Given the description of an element on the screen output the (x, y) to click on. 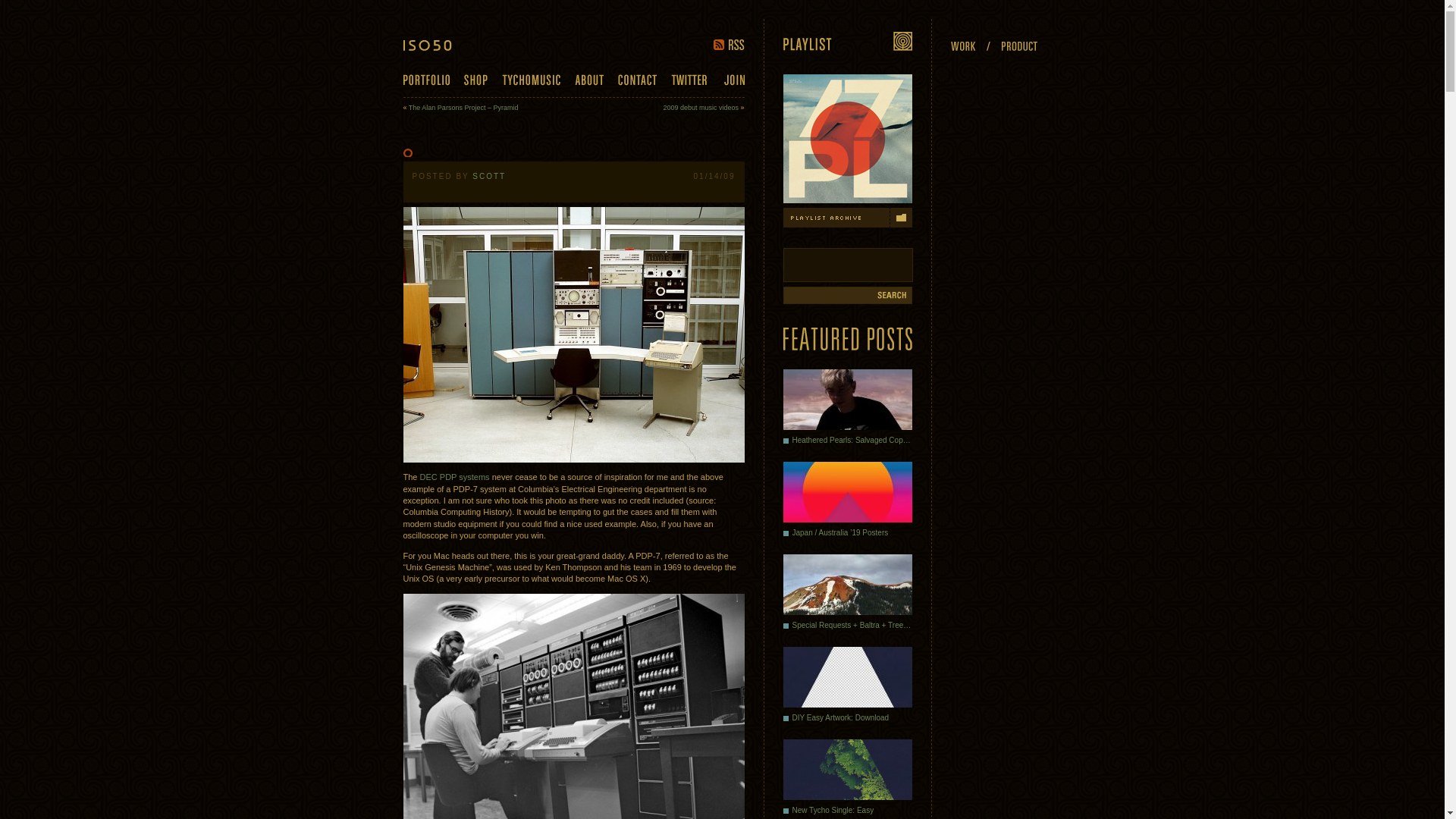
Join (733, 79)
Shop (475, 79)
2:09 am (714, 175)
SCOTT (488, 175)
pdp7a (573, 334)
2009 debut music videos (700, 107)
ISO50 (438, 44)
Portfolio (426, 79)
Contact (636, 79)
Twitter (687, 79)
Tycho Music (531, 79)
View all posts by Scott (488, 175)
RSS (728, 44)
About (589, 79)
leopard-preview-server-1 (573, 706)
